Given the description of an element on the screen output the (x, y) to click on. 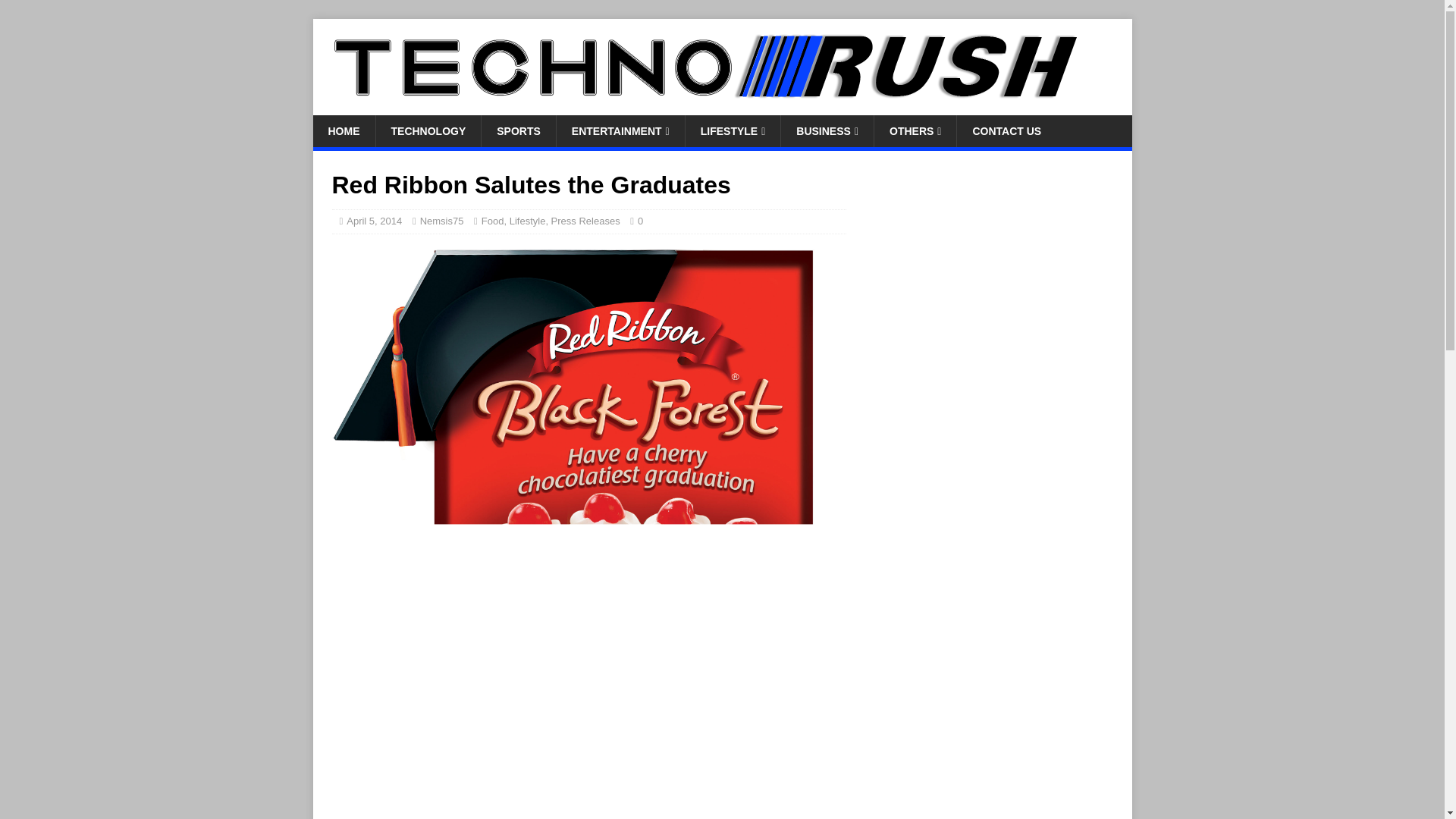
OTHERS (914, 131)
TECHNOLOGY (427, 131)
SPORTS (518, 131)
Food (492, 220)
Press Releases (585, 220)
April 5, 2014 (373, 220)
HOME (343, 131)
Nemsis75 (442, 220)
Lifestyle (527, 220)
